Given the description of an element on the screen output the (x, y) to click on. 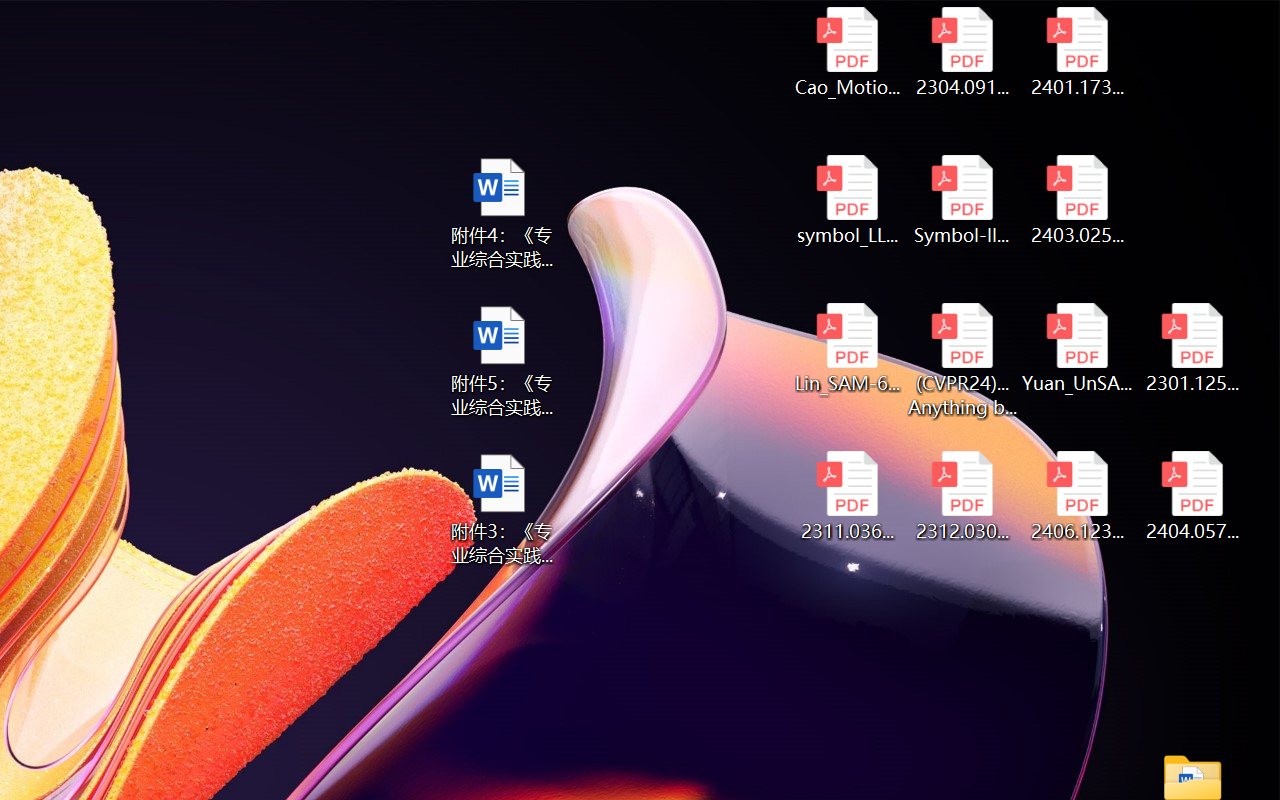
2404.05719v1.pdf (1192, 496)
2403.02502v1.pdf (1077, 200)
2304.09121v3.pdf (962, 52)
2311.03658v2.pdf (846, 496)
(CVPR24)Matching Anything by Segmenting Anything.pdf (962, 360)
2301.12597v3.pdf (1192, 348)
symbol_LLM.pdf (846, 200)
2406.12373v2.pdf (1077, 496)
Symbol-llm-v2.pdf (962, 200)
2401.17399v1.pdf (1077, 52)
2312.03032v2.pdf (962, 496)
